Given the description of an element on the screen output the (x, y) to click on. 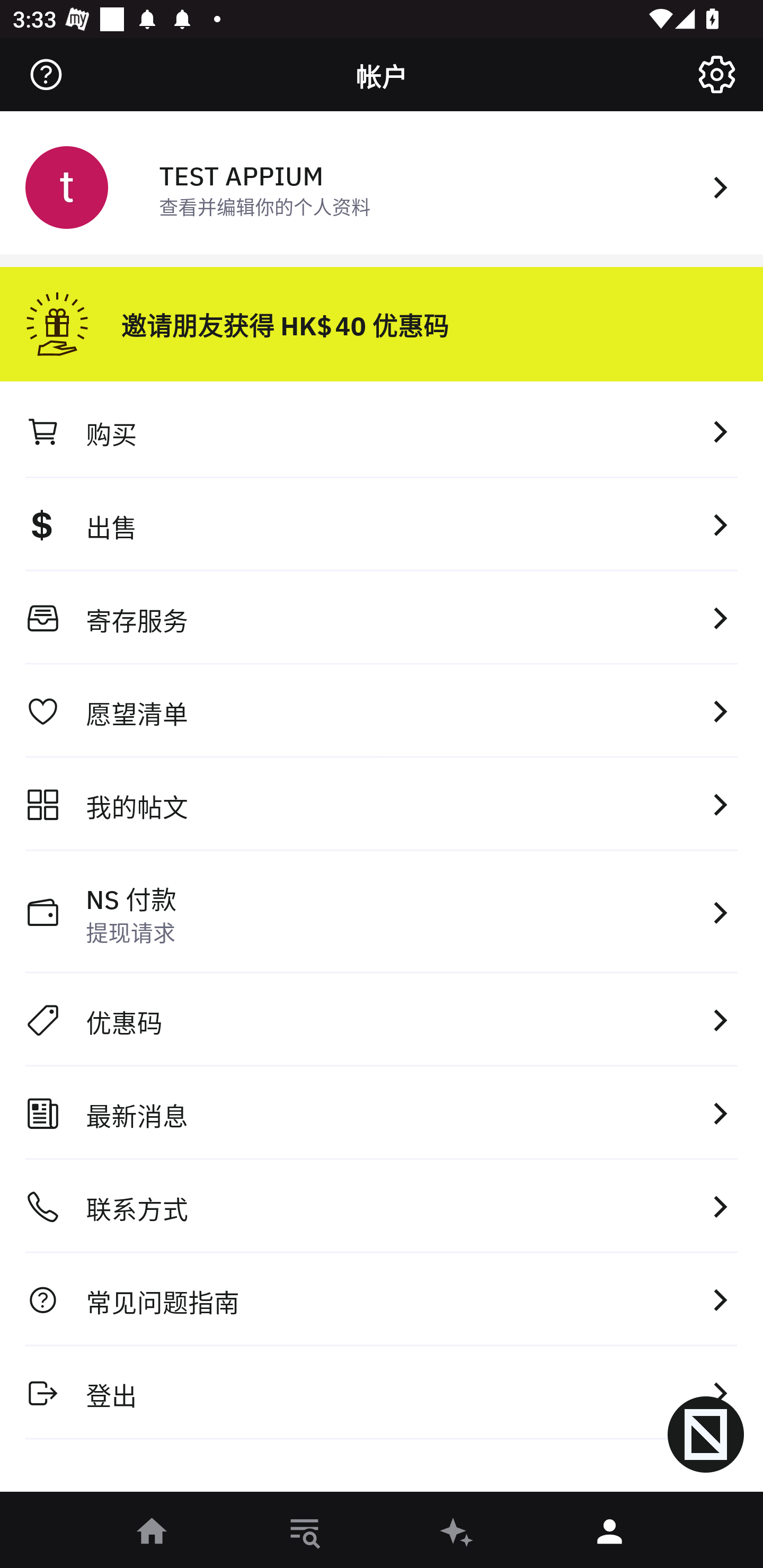
 (46, 74)
 (716, 74)
TEST APPIUM 查看并编辑你的个人资料  (381, 185)
邀请朋友获得 HK$ 40 优惠码 (381, 317)
 购买  (381, 431)
 出售  (381, 524)
 寄存服务  (381, 617)
 愿望清单  (381, 710)
 我的帖文  (381, 804)
 0 NS 付款 提现请求  (381, 912)
 优惠码  (381, 1019)
 最新消息  (381, 1113)
 联系方式  (381, 1206)
 常见问题指南  (381, 1298)
 登出  (381, 1392)
󰋜 (152, 1532)
󱎸 (305, 1532)
󰫢 (457, 1532)
󰀄 (610, 1532)
